Given the description of an element on the screen output the (x, y) to click on. 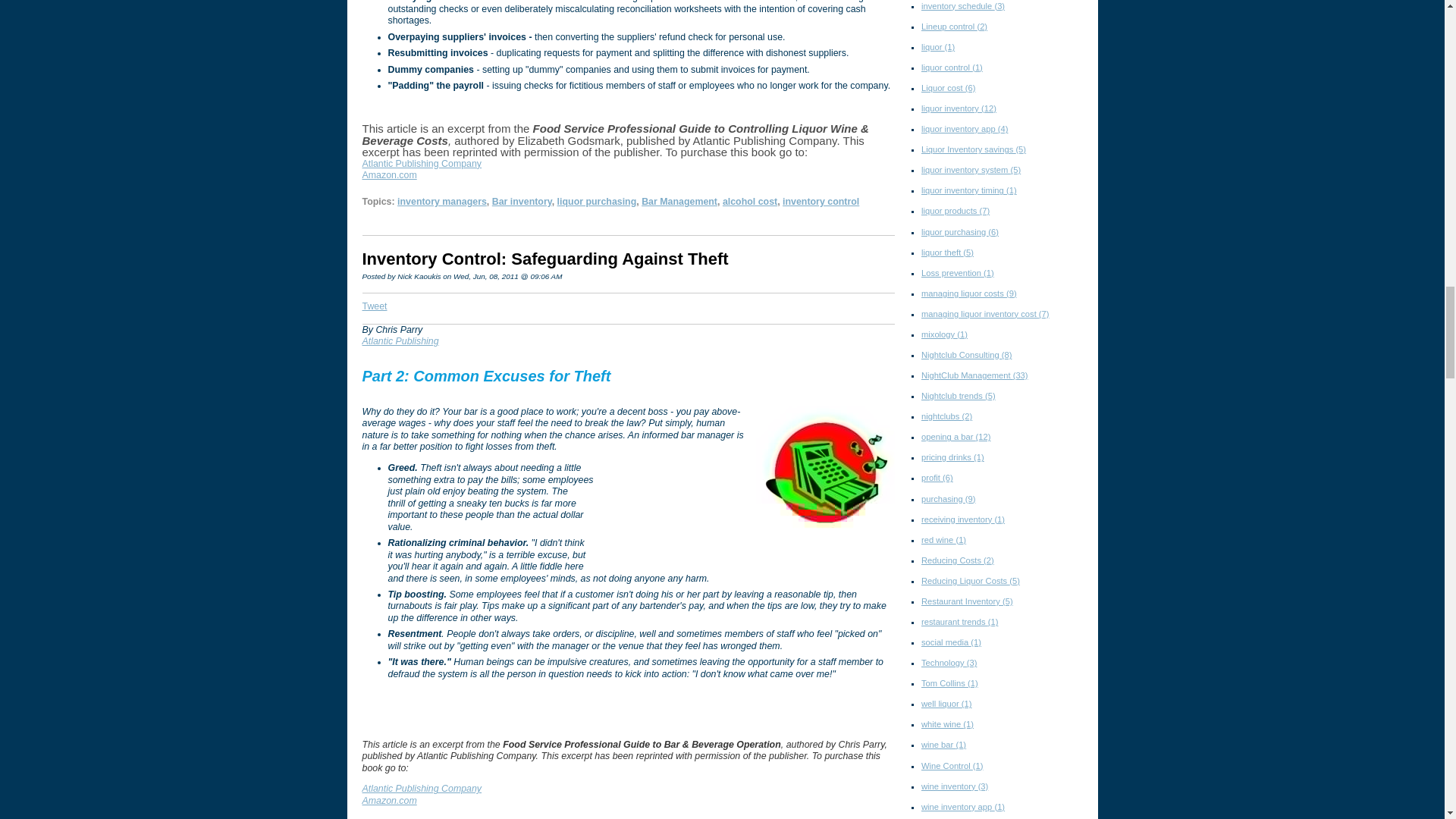
Amazon.com (389, 800)
Atlantic Publishing Company (421, 787)
Amazon.com (389, 174)
Atlantic Publishing (400, 340)
Atlantic Publishing Company (421, 163)
